Given the description of an element on the screen output the (x, y) to click on. 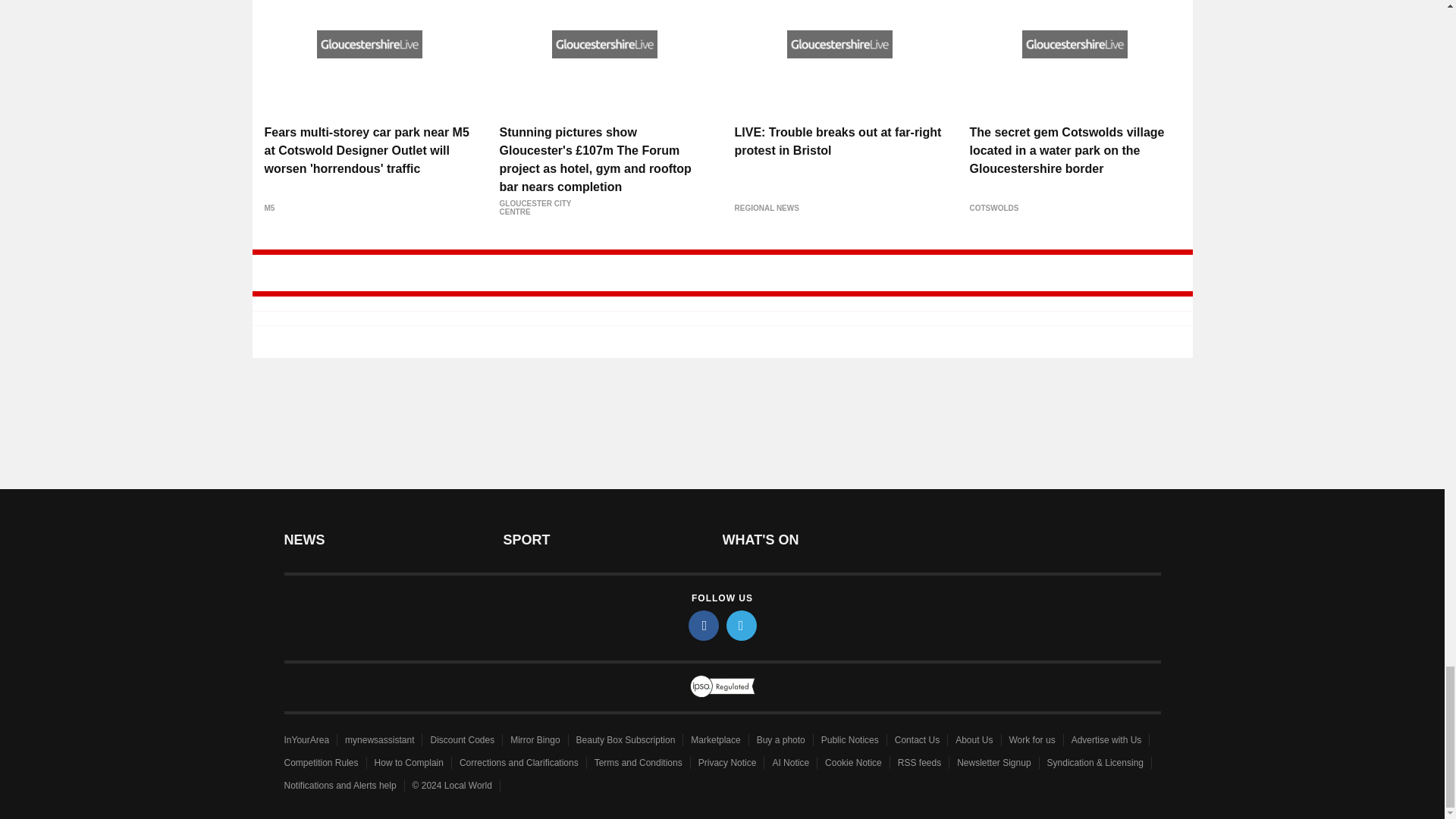
twitter (741, 625)
facebook (703, 625)
